Given the description of an element on the screen output the (x, y) to click on. 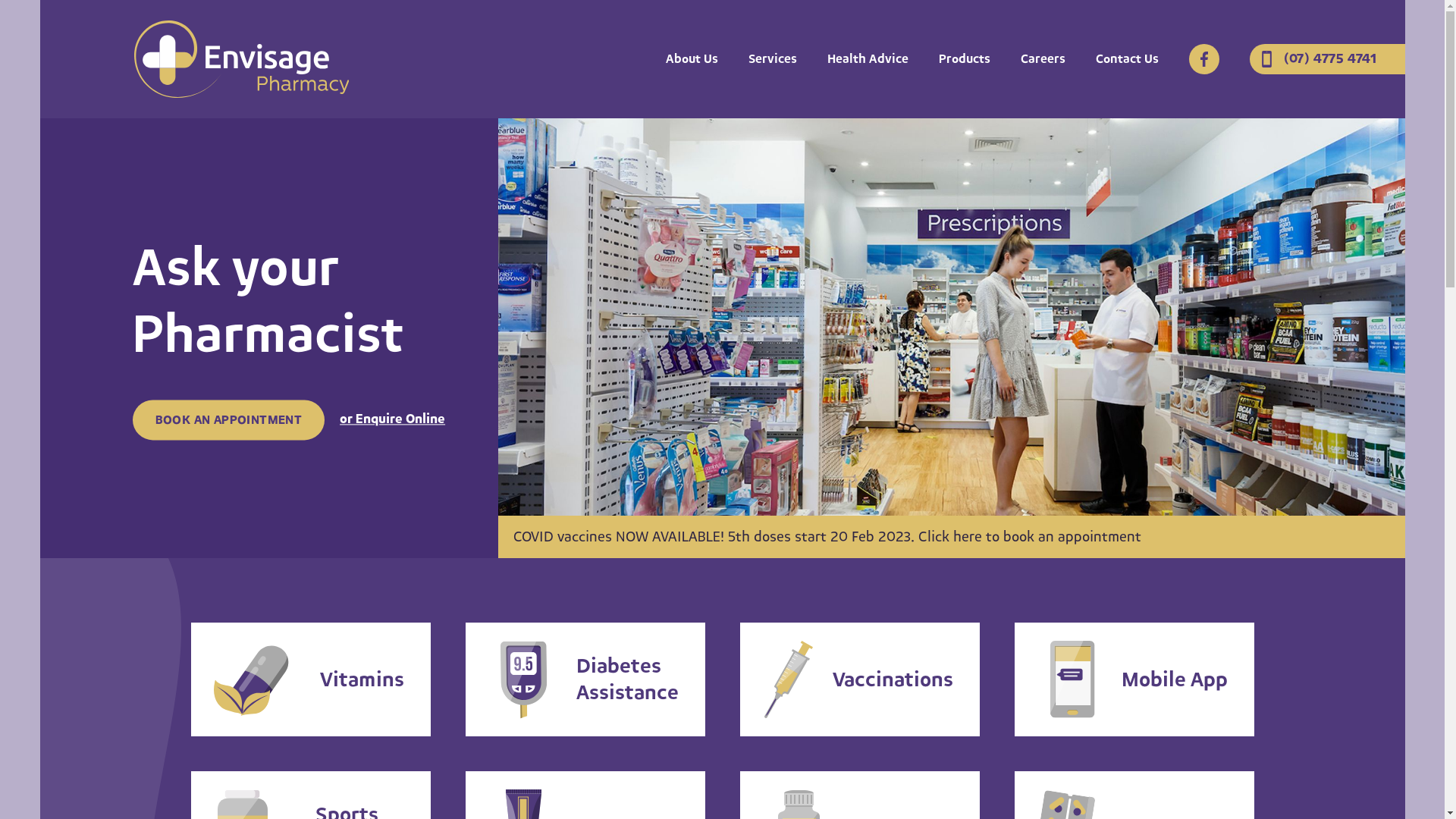
Vaccinations Element type: text (859, 679)
Vitamins Element type: text (310, 679)
About Us Element type: text (691, 59)
Mobile App Element type: text (1134, 679)
(07) 4775 4741 Element type: text (1327, 58)
Careers Element type: text (1042, 59)
Contact Us Element type: text (1126, 59)
Health Advice Element type: text (866, 59)
Diabetes
Assistance Element type: text (585, 679)
BOOK AN APPOINTMENT Element type: text (227, 419)
Products Element type: text (964, 59)
or Enquire Online Element type: text (392, 419)
Services Element type: text (771, 59)
